Given the description of an element on the screen output the (x, y) to click on. 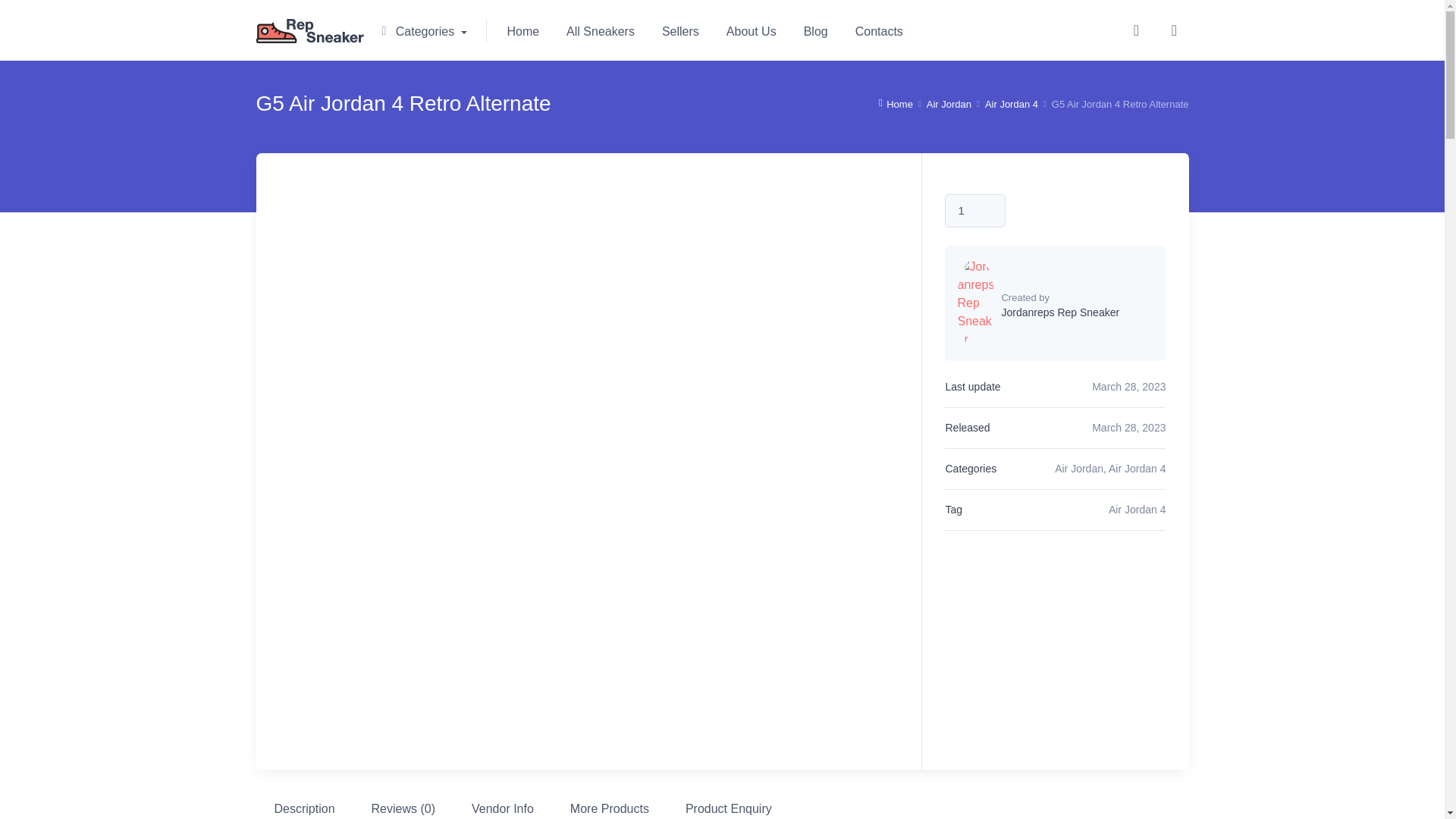
1 (975, 211)
